Given the description of an element on the screen output the (x, y) to click on. 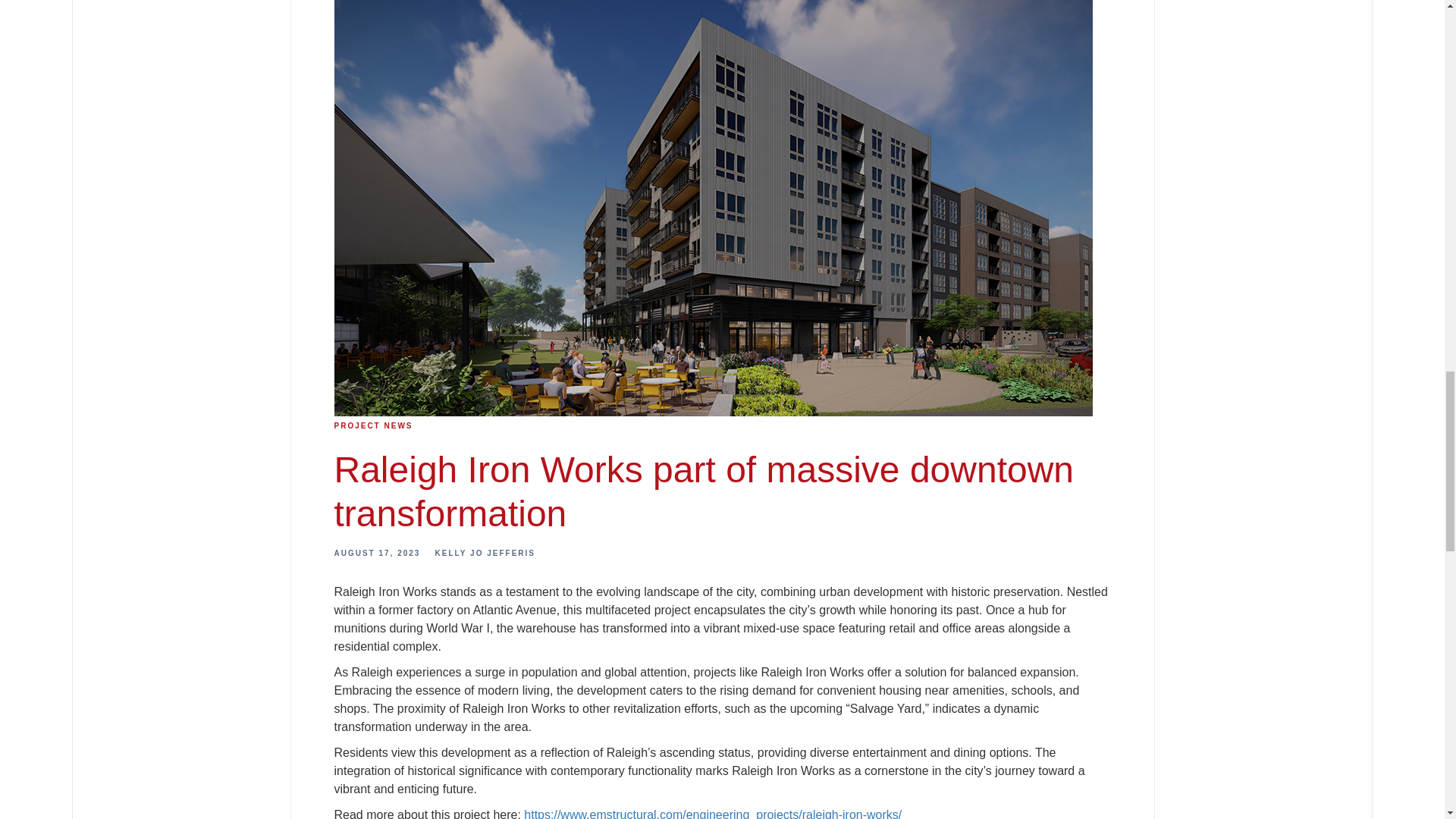
Raleigh Iron Works part of massive downtown transformation (703, 491)
AUGUST 17, 2023 (376, 552)
PROJECT NEWS (372, 425)
